Given the description of an element on the screen output the (x, y) to click on. 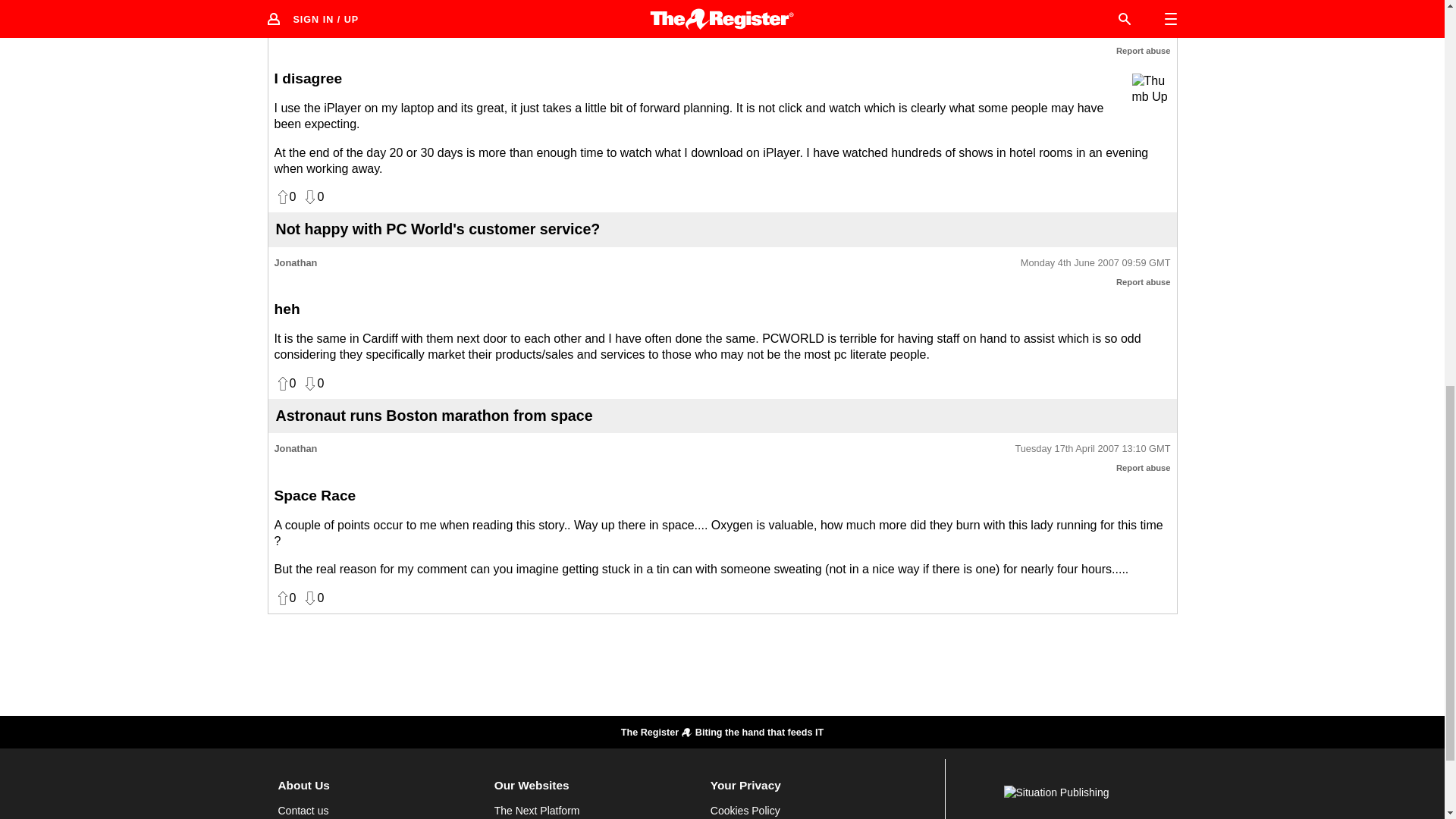
Report abuse (1143, 281)
Report abuse (1143, 50)
Report abuse (1143, 467)
